Given the description of an element on the screen output the (x, y) to click on. 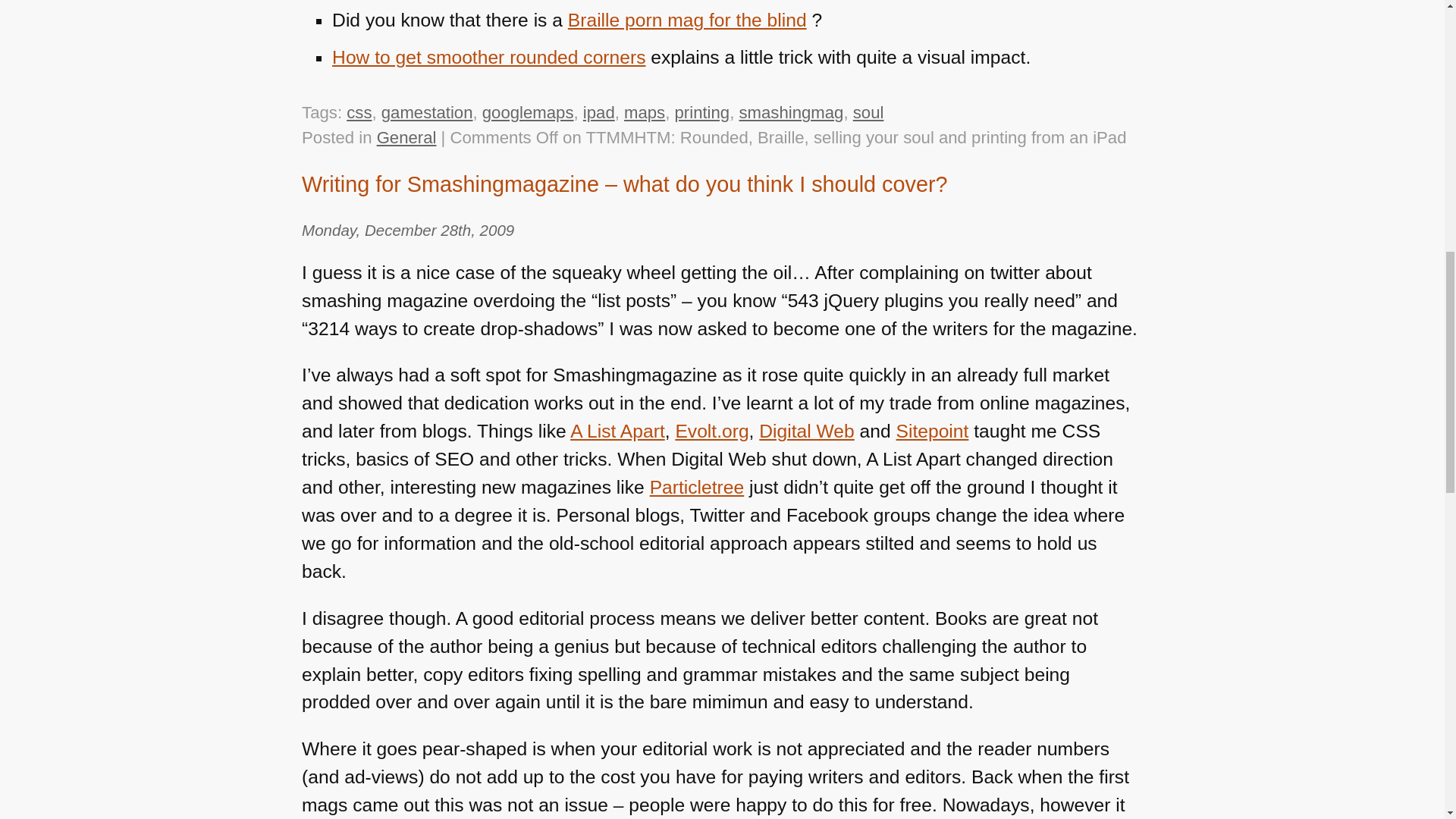
googlemaps (527, 112)
ipad (598, 112)
maps (644, 112)
How to get smoother rounded corners (488, 56)
soul (868, 112)
Braille porn mag for the blind (686, 19)
smashingmag (790, 112)
printing (702, 112)
gamestation (427, 112)
css (358, 112)
Particletree (696, 486)
Sitepoint (932, 430)
Digital Web (805, 430)
A List Apart (617, 430)
Evolt.org (711, 430)
